Given the description of an element on the screen output the (x, y) to click on. 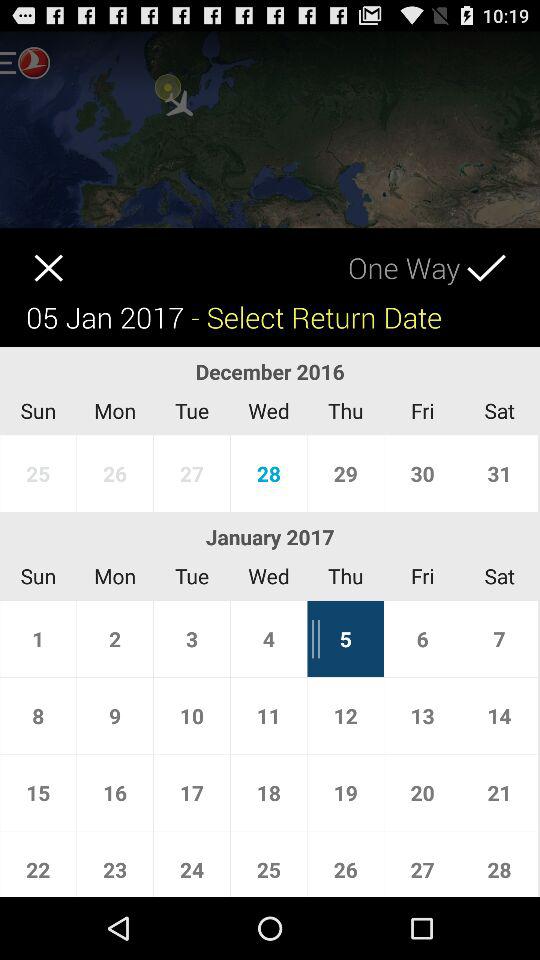
close calendar (31, 254)
